Given the description of an element on the screen output the (x, y) to click on. 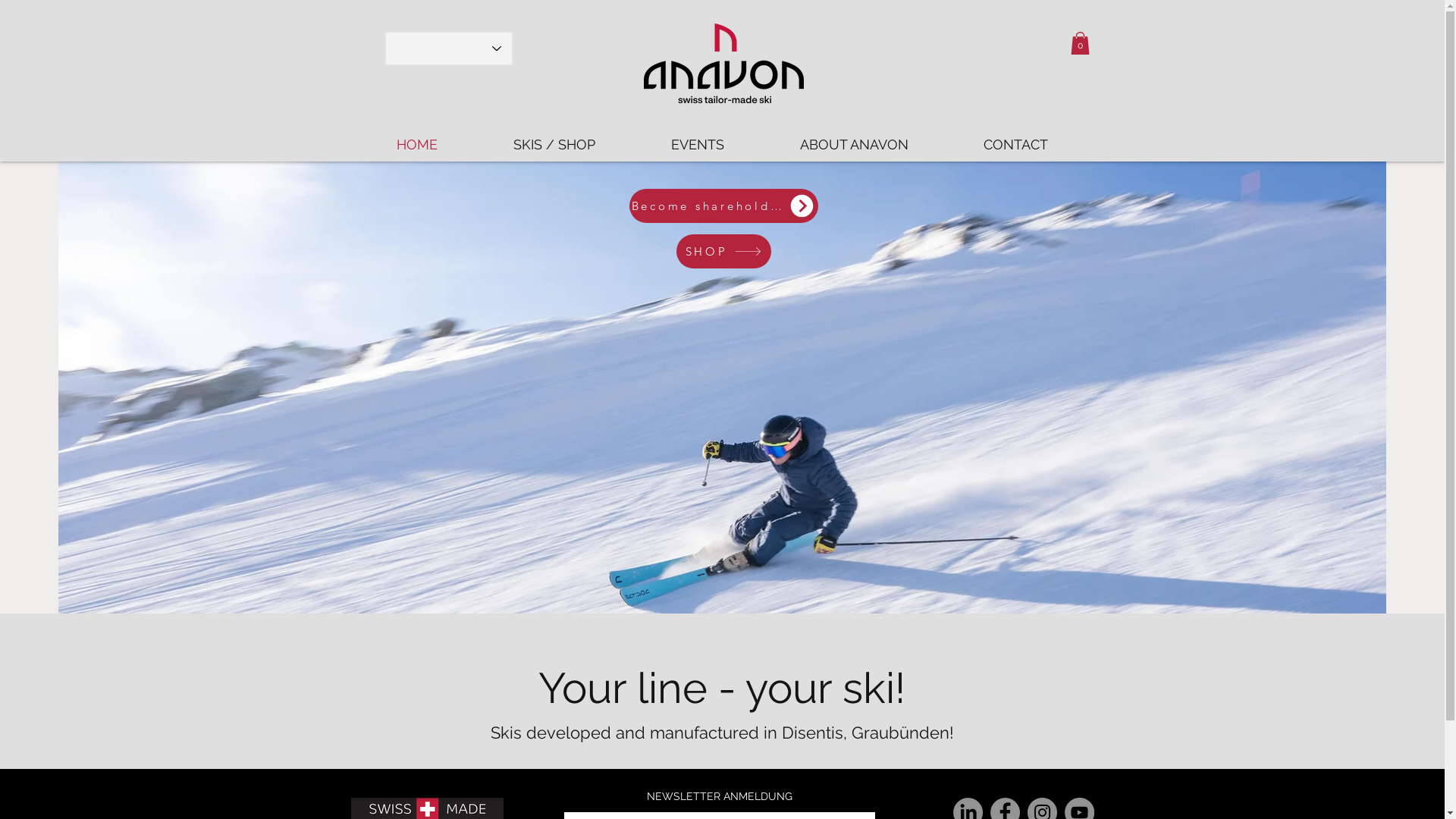
ABOUT ANAVON Element type: text (853, 144)
HOME Element type: text (415, 144)
SHOP Element type: text (723, 251)
Become shareholder Element type: text (723, 205)
0 Element type: text (1079, 42)
EVENTS Element type: text (696, 144)
SKIS / SHOP Element type: text (553, 144)
CONTACT Element type: text (1015, 144)
